Given the description of an element on the screen output the (x, y) to click on. 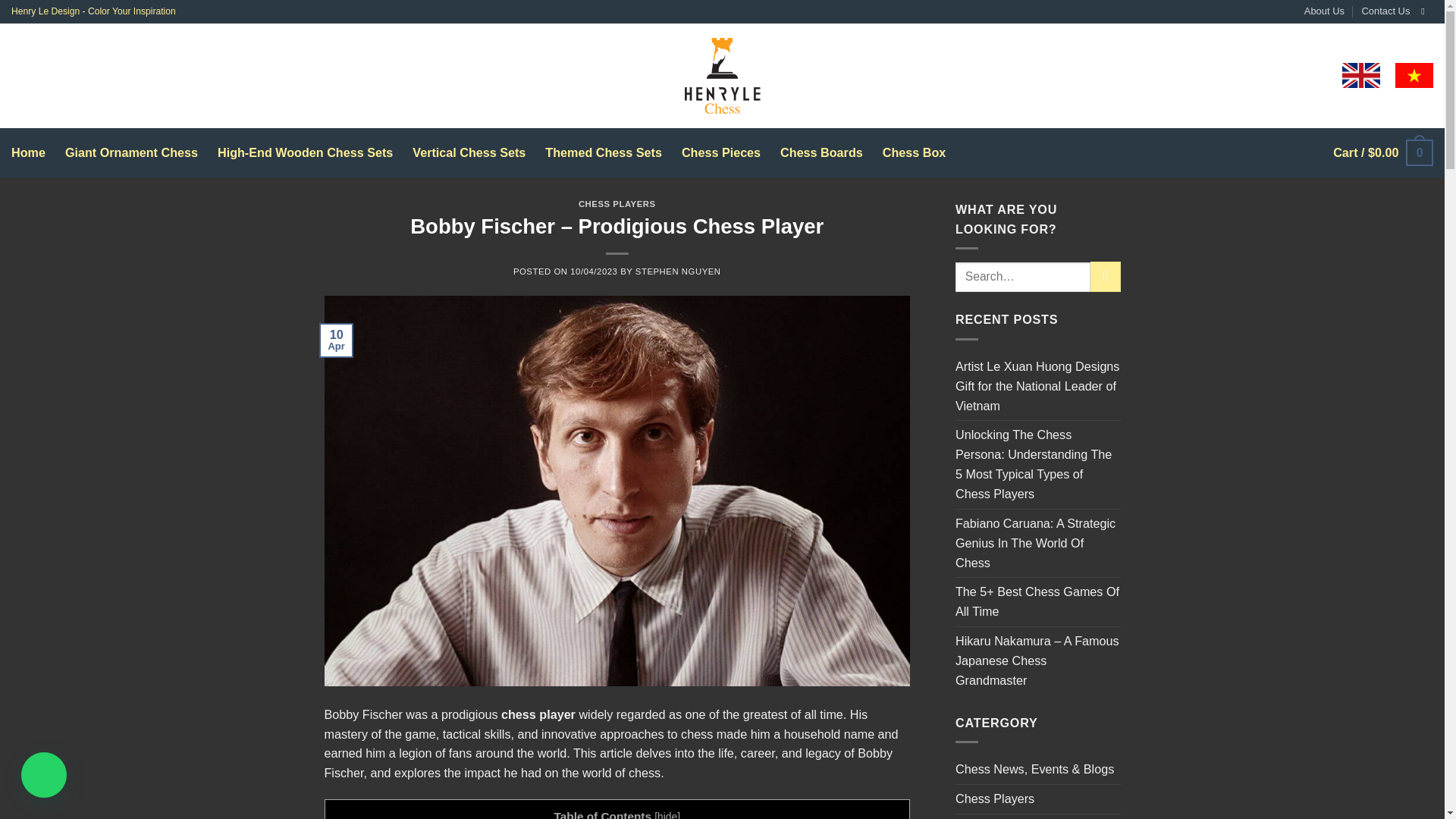
chess player (537, 714)
Themed Chess Sets (603, 152)
Giant Ornament Chess (131, 152)
Vertical Chess Sets (468, 152)
Chess Boards (821, 152)
STEPHEN NGUYEN (677, 271)
hide (667, 814)
High-End Wooden Chess Sets (304, 152)
CHESS PLAYERS (617, 203)
Contact Us (1385, 11)
